Given the description of an element on the screen output the (x, y) to click on. 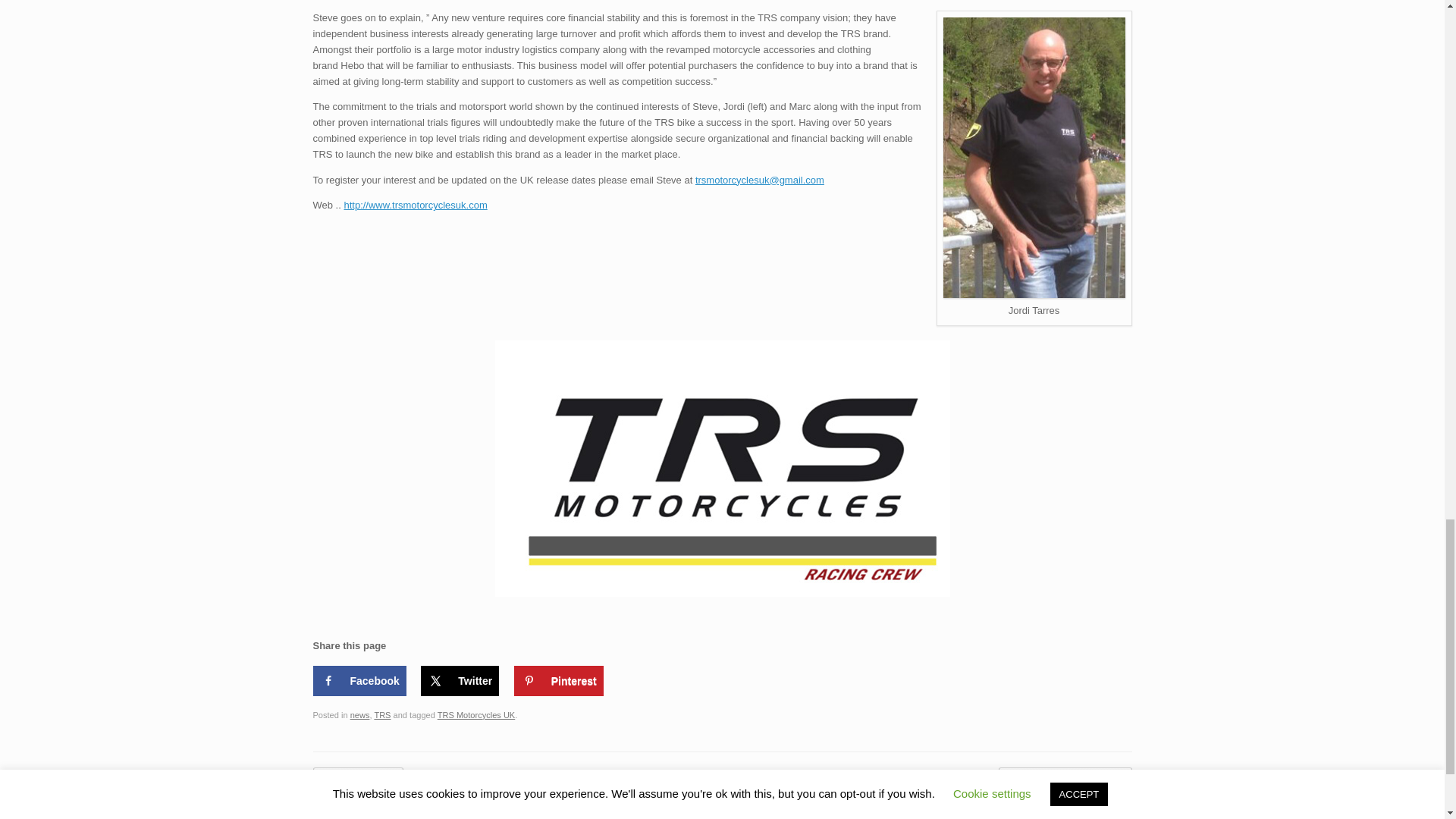
Twitter (459, 680)
TRS Motorcycles UK (476, 714)
Share on Facebook (359, 680)
Pinterest (558, 680)
TRS (382, 714)
news (359, 714)
Facebook (359, 680)
Share on X (459, 680)
Save to Pinterest (558, 680)
